Given the description of an element on the screen output the (x, y) to click on. 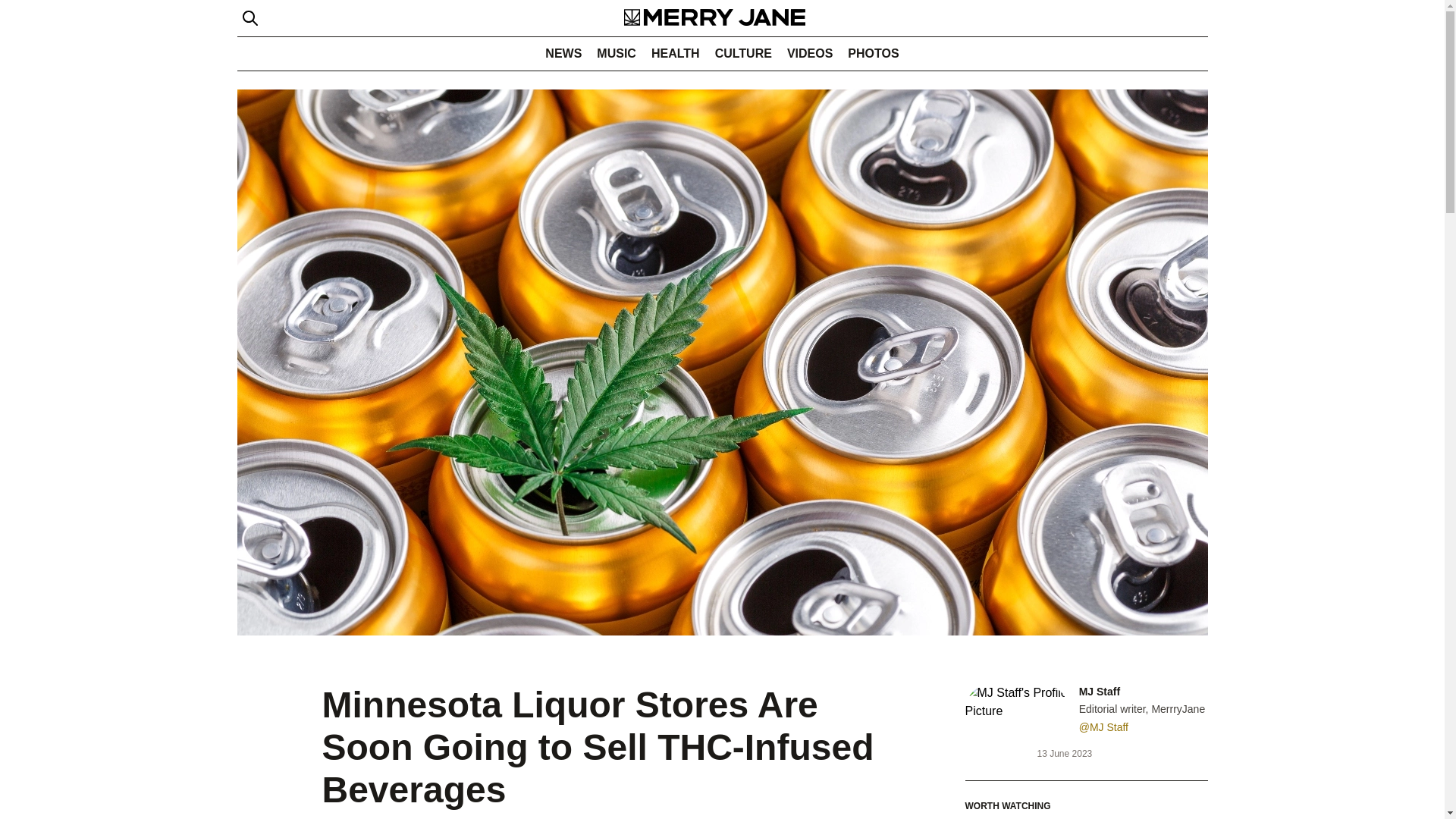
PHOTOS (872, 52)
NEWS (563, 52)
HEALTH (675, 52)
MUSIC (616, 52)
CULTURE (742, 52)
VIDEOS (809, 52)
